Given the description of an element on the screen output the (x, y) to click on. 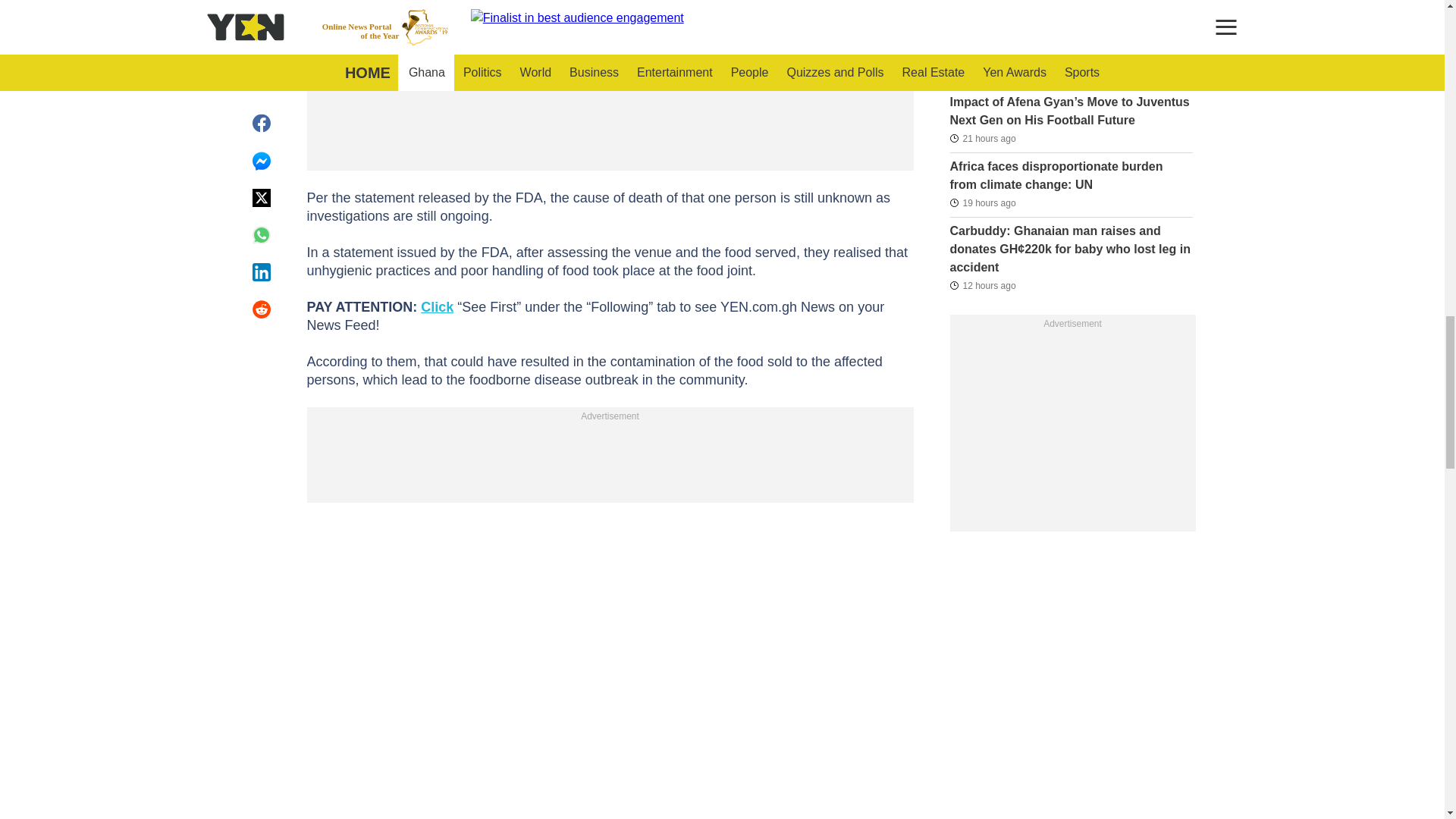
2024-09-02T09:00:40Z (981, 137)
2024-09-02T17:17:10Z (981, 285)
2024-09-02T10:50:14Z (981, 203)
2024-09-02T15:37:02Z (981, 74)
